Given the description of an element on the screen output the (x, y) to click on. 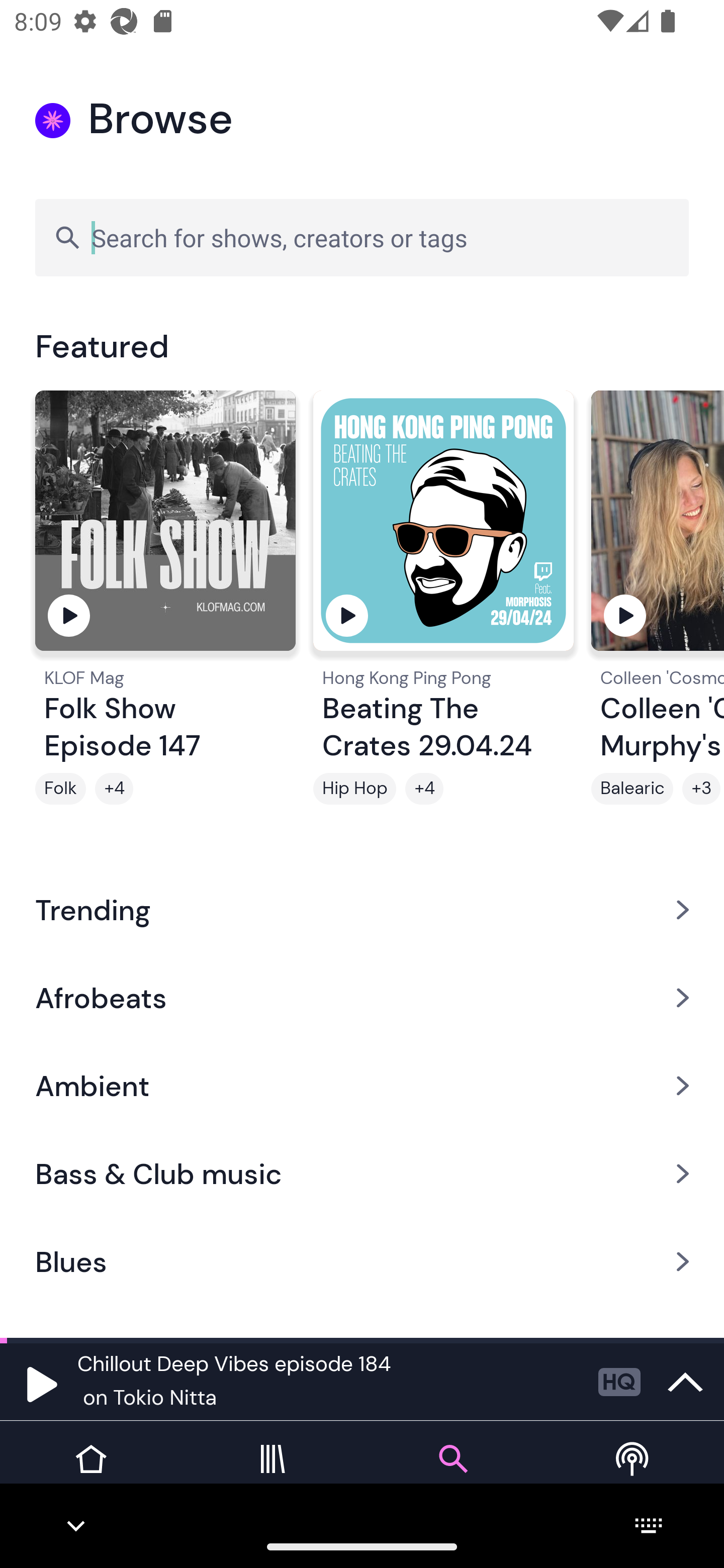
Search for shows, creators or tags (361, 237)
Folk (60, 788)
Hip Hop (354, 788)
Balearic (632, 788)
Trending (361, 909)
Afrobeats (361, 997)
Ambient (361, 1085)
Bass & Club music (361, 1174)
Blues (361, 1262)
Home tab (90, 1473)
Library tab (271, 1473)
Browse tab (452, 1473)
Live tab (633, 1473)
